Given the description of an element on the screen output the (x, y) to click on. 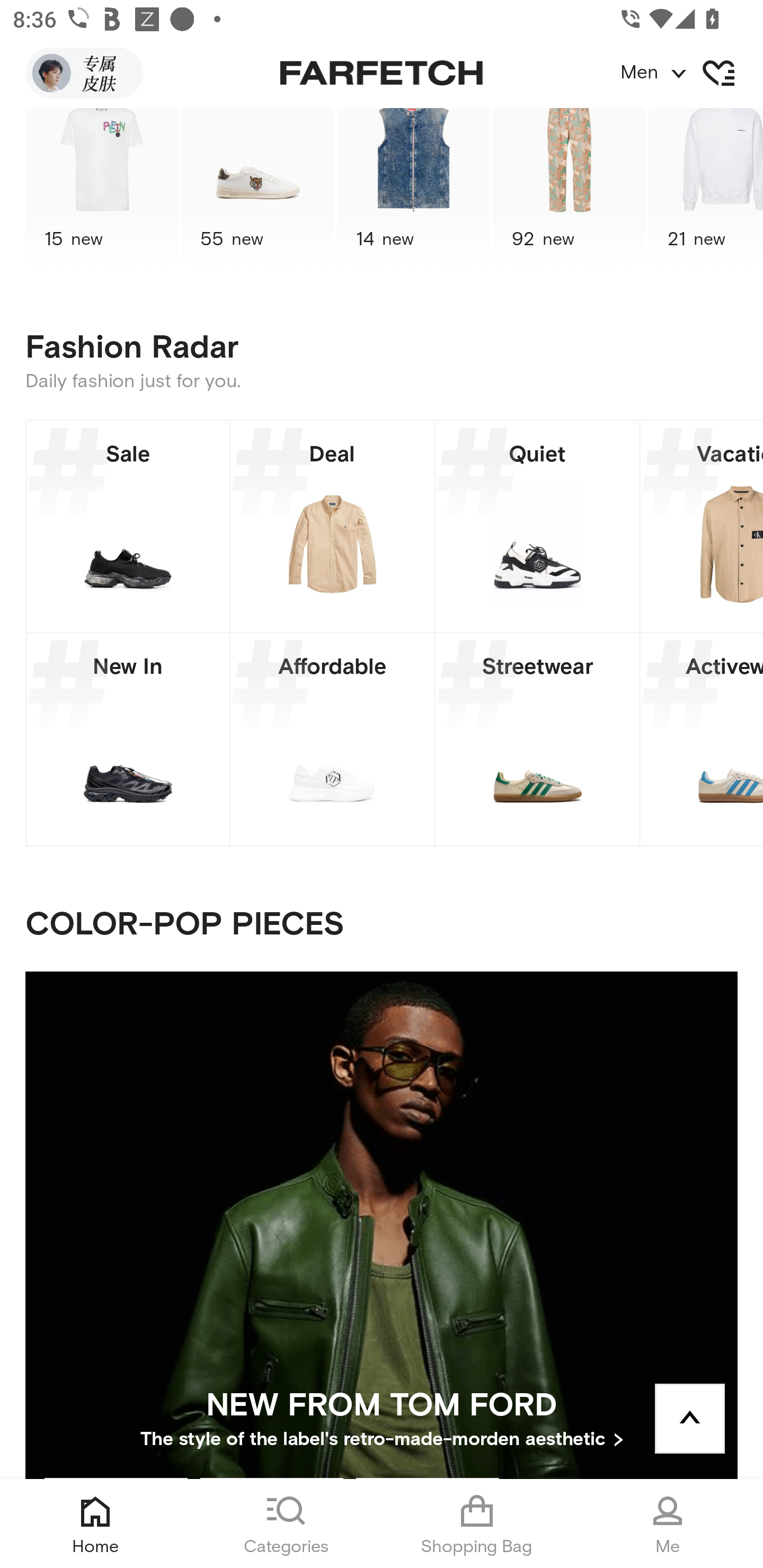
Men (691, 72)
Philipp Plein 15  new (101, 188)
Polo Ralph Lauren 55  new (257, 188)
Diesel 14  new (413, 188)
Acne Studios 92  new (568, 188)
Stone Island 21  new (705, 188)
Sale (127, 526)
Deal (332, 526)
Quiet (537, 526)
Vacation (701, 526)
New In (127, 739)
Affordable (332, 739)
Streetwear (537, 739)
Activewear (701, 739)
Categories (285, 1523)
Shopping Bag (476, 1523)
Me (667, 1523)
